Given the description of an element on the screen output the (x, y) to click on. 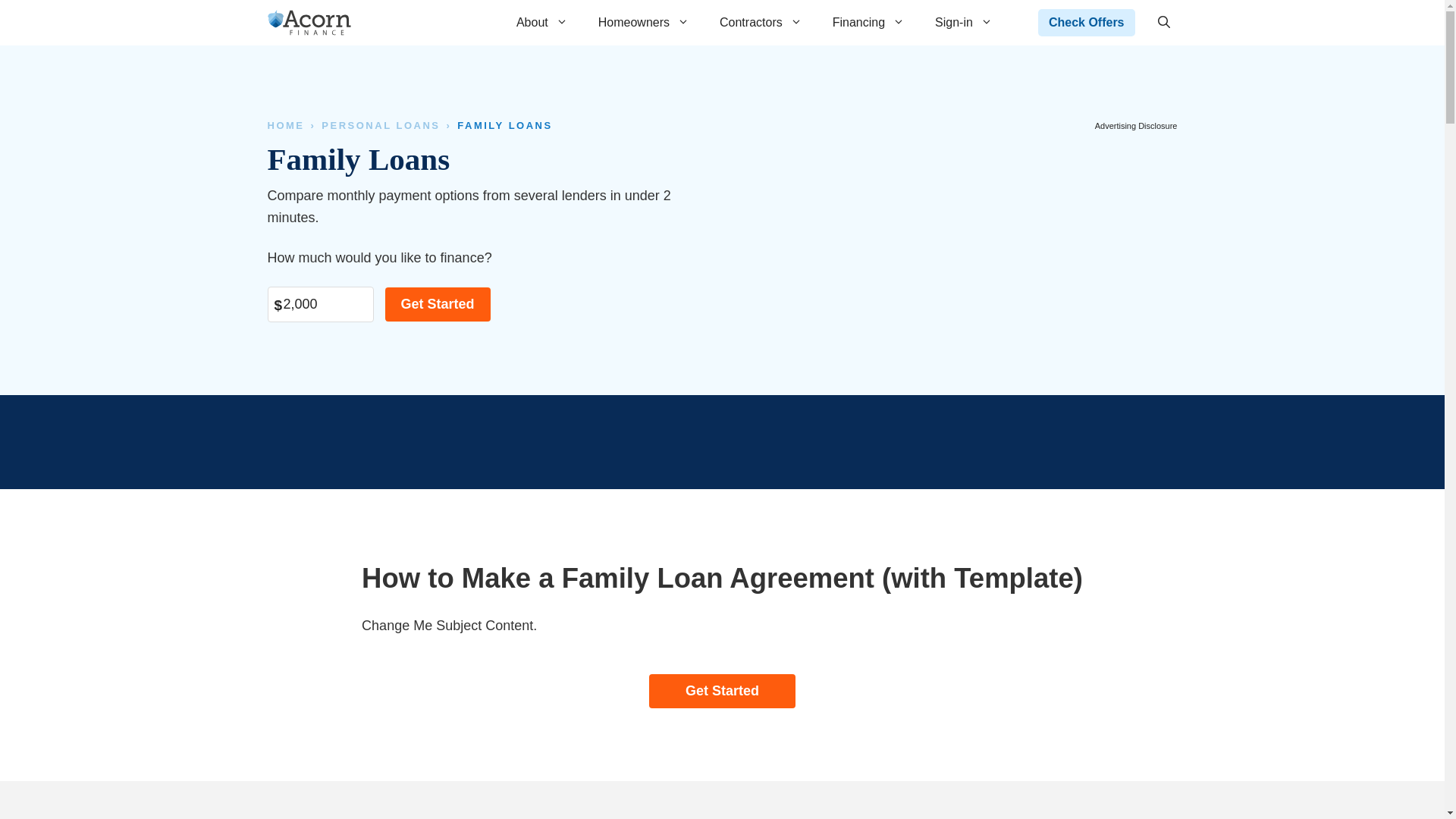
About (541, 22)
Homeowners (643, 22)
Get Started (437, 304)
2,000 (319, 304)
Customer reviews powered by Trustpilot (721, 441)
